Given the description of an element on the screen output the (x, y) to click on. 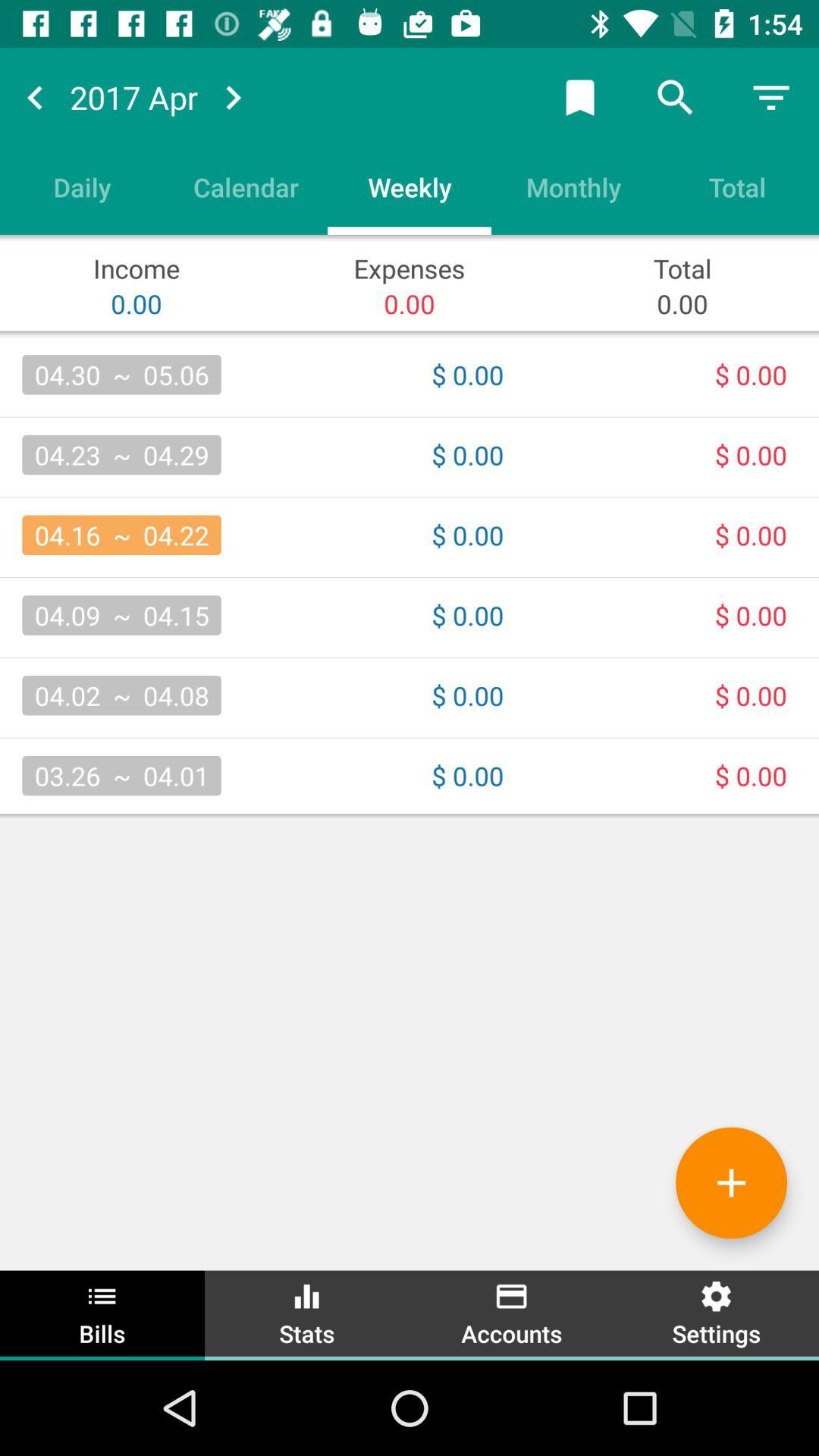
next (232, 97)
